Given the description of an element on the screen output the (x, y) to click on. 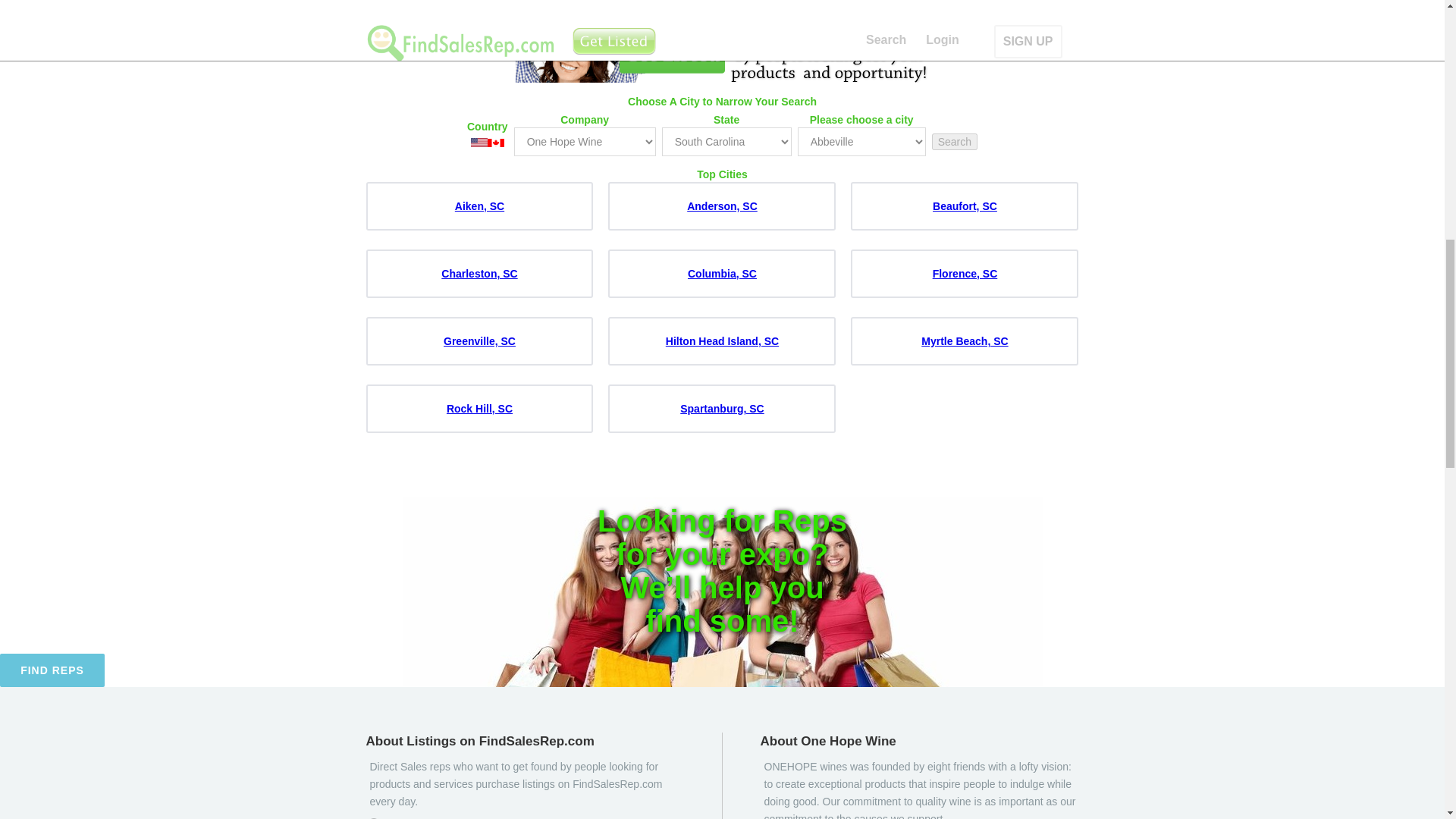
Greenville, SC (479, 340)
FIND REPS (52, 670)
Search (953, 141)
Florence, SC (965, 273)
Canada Provinces (495, 142)
United States of America (478, 142)
Columbia, SC (722, 273)
Spartanburg, SC (720, 408)
Anderson, SC (722, 205)
Hilton Head Island, SC (721, 340)
Search (953, 141)
Beaufort, SC (965, 205)
Aiken, SC (478, 205)
Rock Hill, SC (479, 408)
Charleston, SC (478, 273)
